Given the description of an element on the screen output the (x, y) to click on. 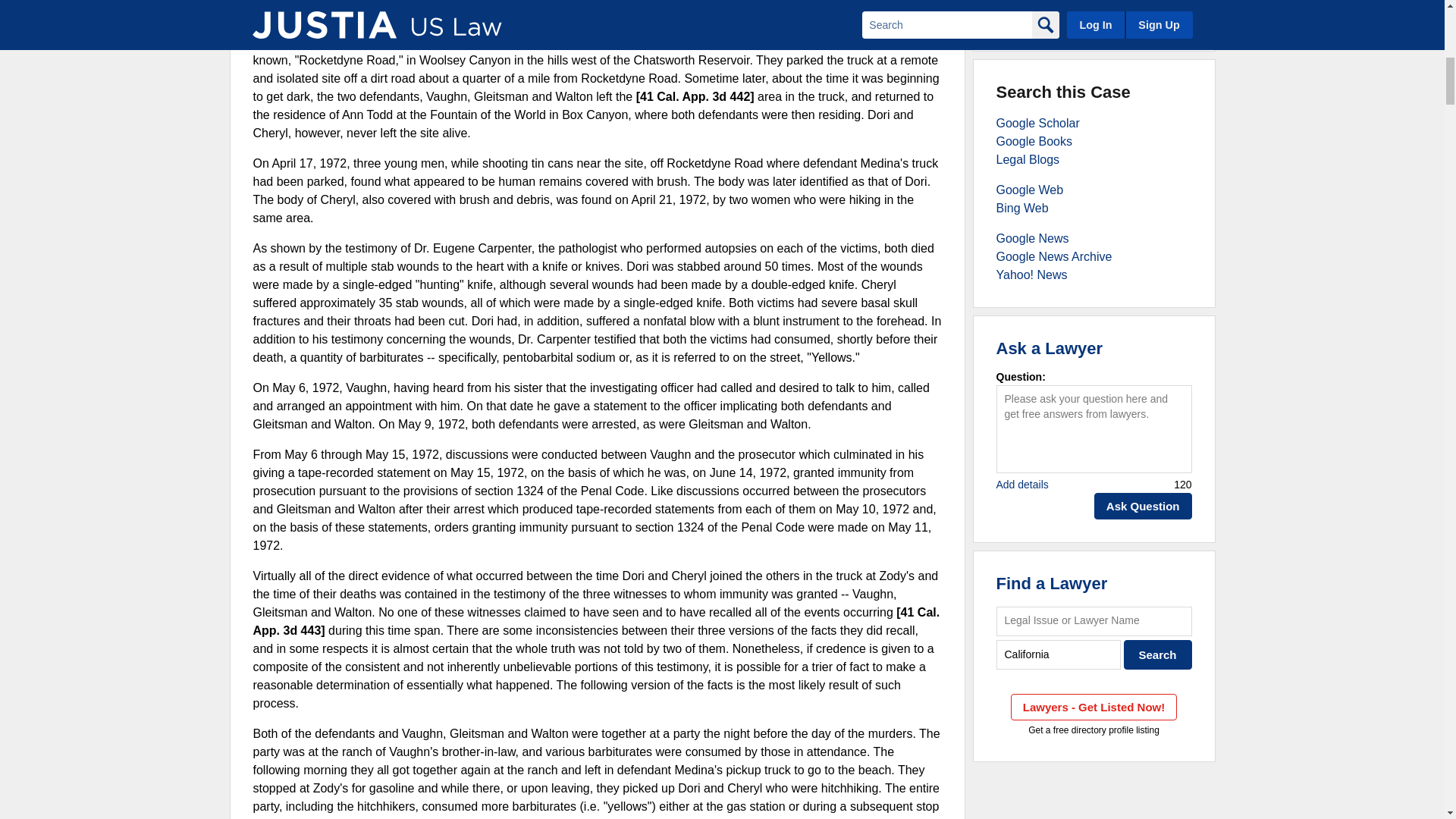
Law - Google Web (1029, 189)
Law - Bing Web (1021, 207)
Search (1158, 654)
Law - Google News Archive (1053, 256)
California (1058, 654)
Search (1158, 654)
Law - Yahoo! News (1031, 274)
Law - Google Books (1034, 141)
Law - Google News (1031, 237)
Law - Legal Blogs (1027, 159)
Law - Google Scholar (1037, 123)
City, State (1058, 654)
Legal Issue or Lawyer Name (1093, 621)
